Given the description of an element on the screen output the (x, y) to click on. 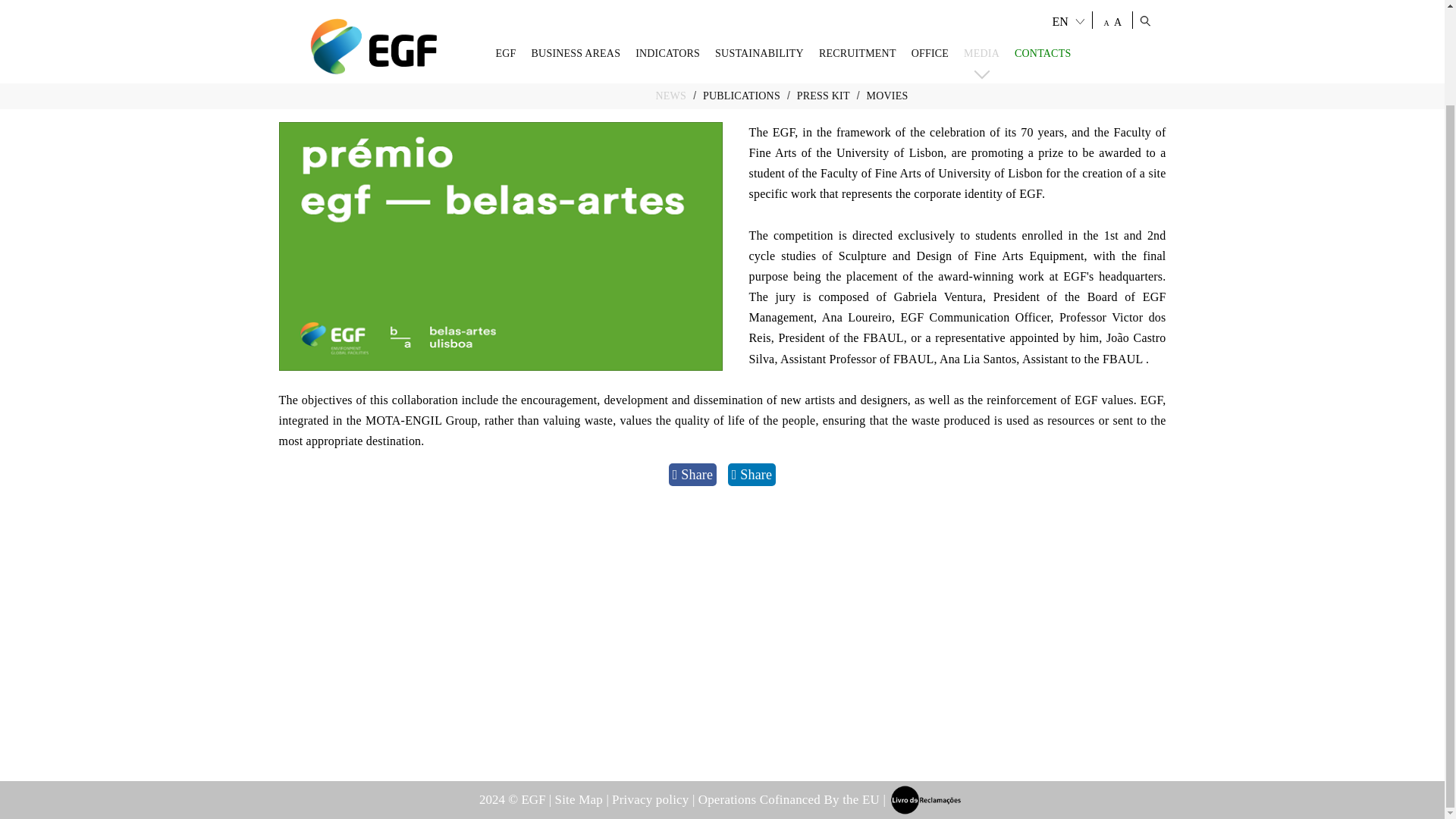
Share (752, 474)
Privacy policy (652, 799)
Share (692, 474)
Operations Cofinanced By the EU (790, 799)
Site Map (580, 799)
